Given the description of an element on the screen output the (x, y) to click on. 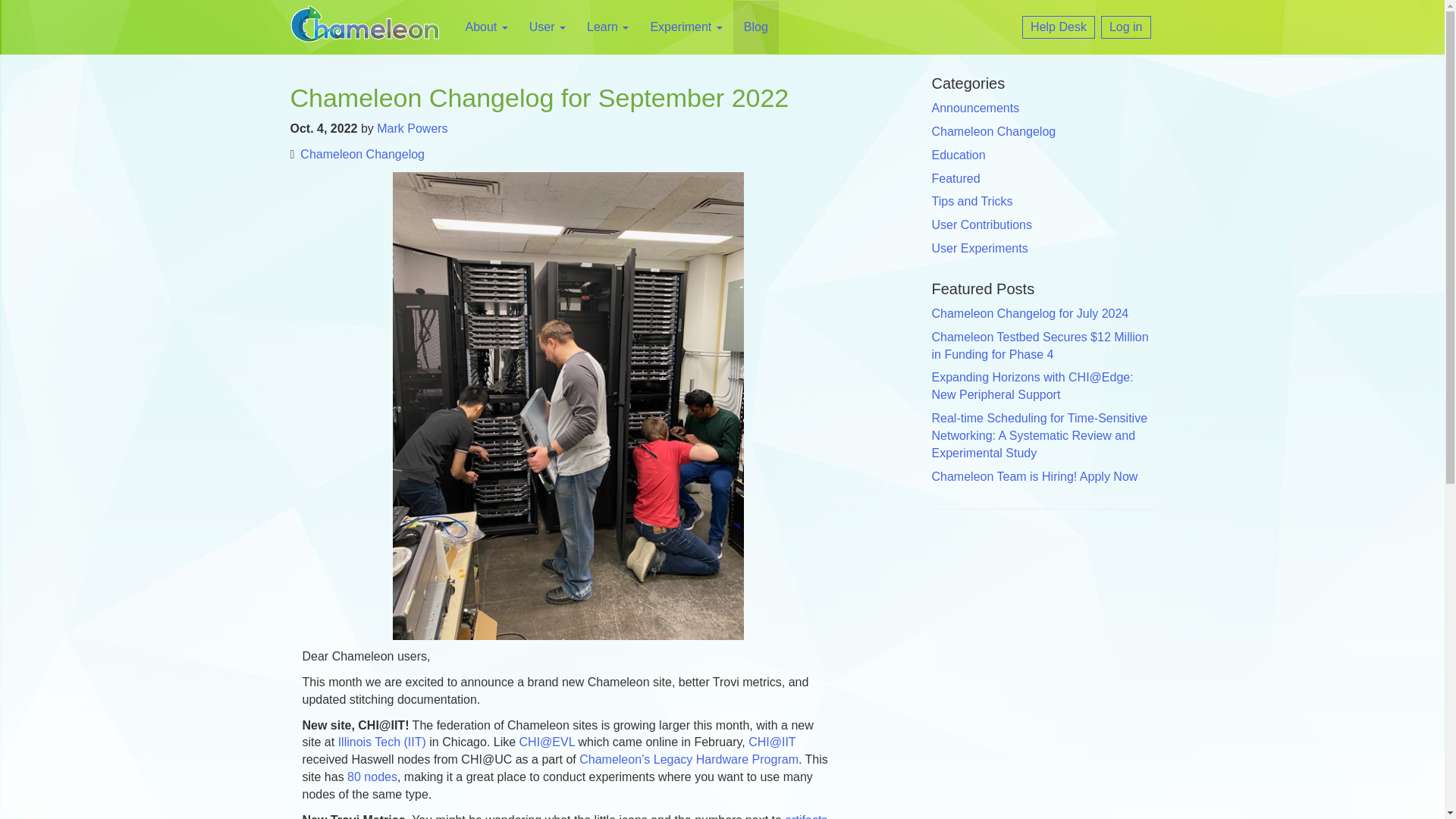
Mark Powers (411, 128)
artifacts (805, 816)
80 nodes (372, 776)
Learn (607, 27)
User (547, 27)
Experiment (685, 27)
Log in (1125, 26)
About (486, 27)
Help Desk (1058, 26)
Chameleon Changelog (362, 154)
